Given the description of an element on the screen output the (x, y) to click on. 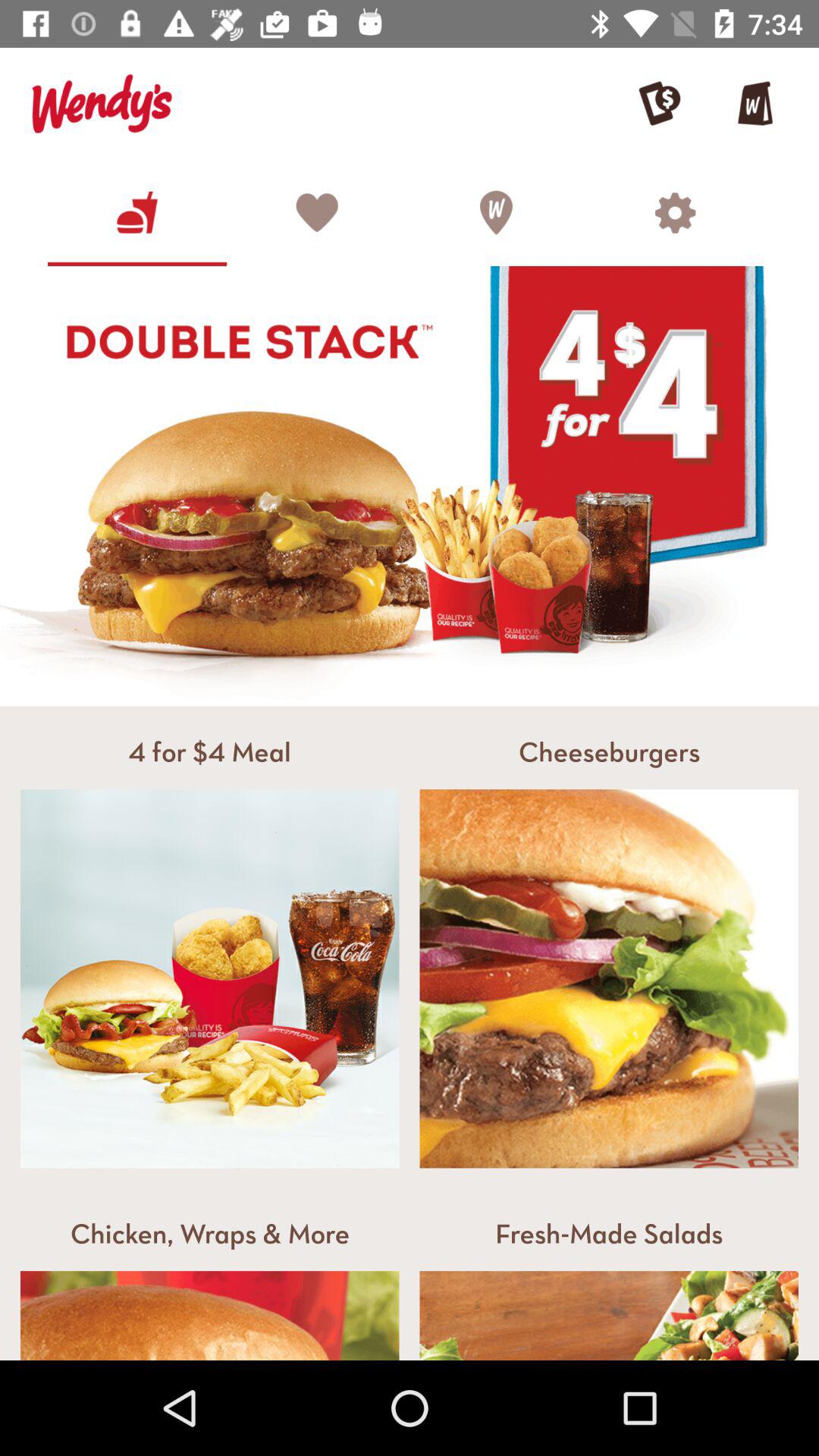
click on the image which says double stack (409, 486)
click on the image below the text 4 for 4 meal (209, 979)
select the image which is below text cheeseburgers (609, 979)
click on the heart icon which is above the double stack image (316, 212)
select the symbol which is to the first left of the settings symbol (495, 212)
click on the icon below wendys (136, 212)
